Given the description of an element on the screen output the (x, y) to click on. 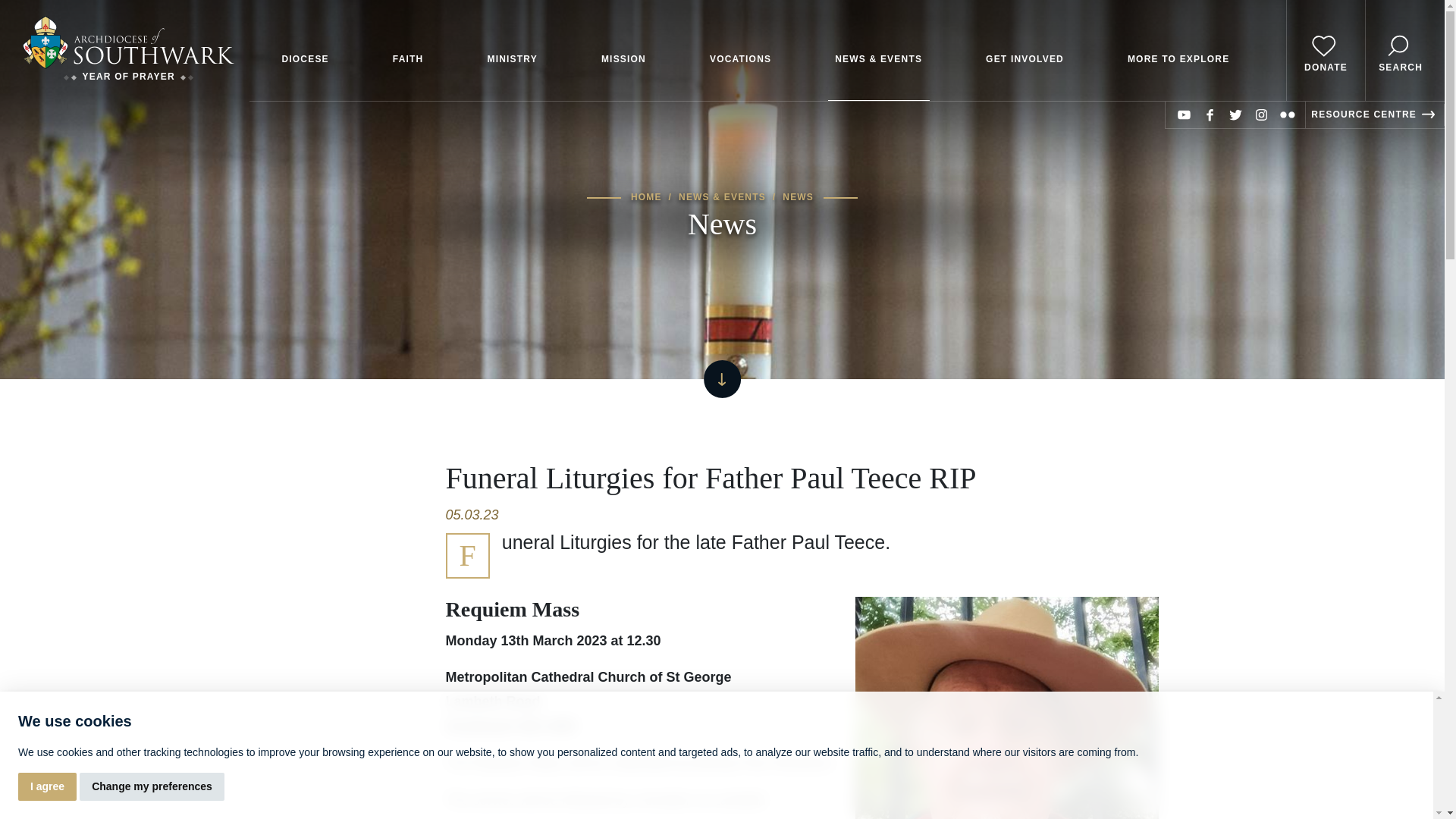
I agree (47, 786)
Change my preferences (152, 786)
